Given the description of an element on the screen output the (x, y) to click on. 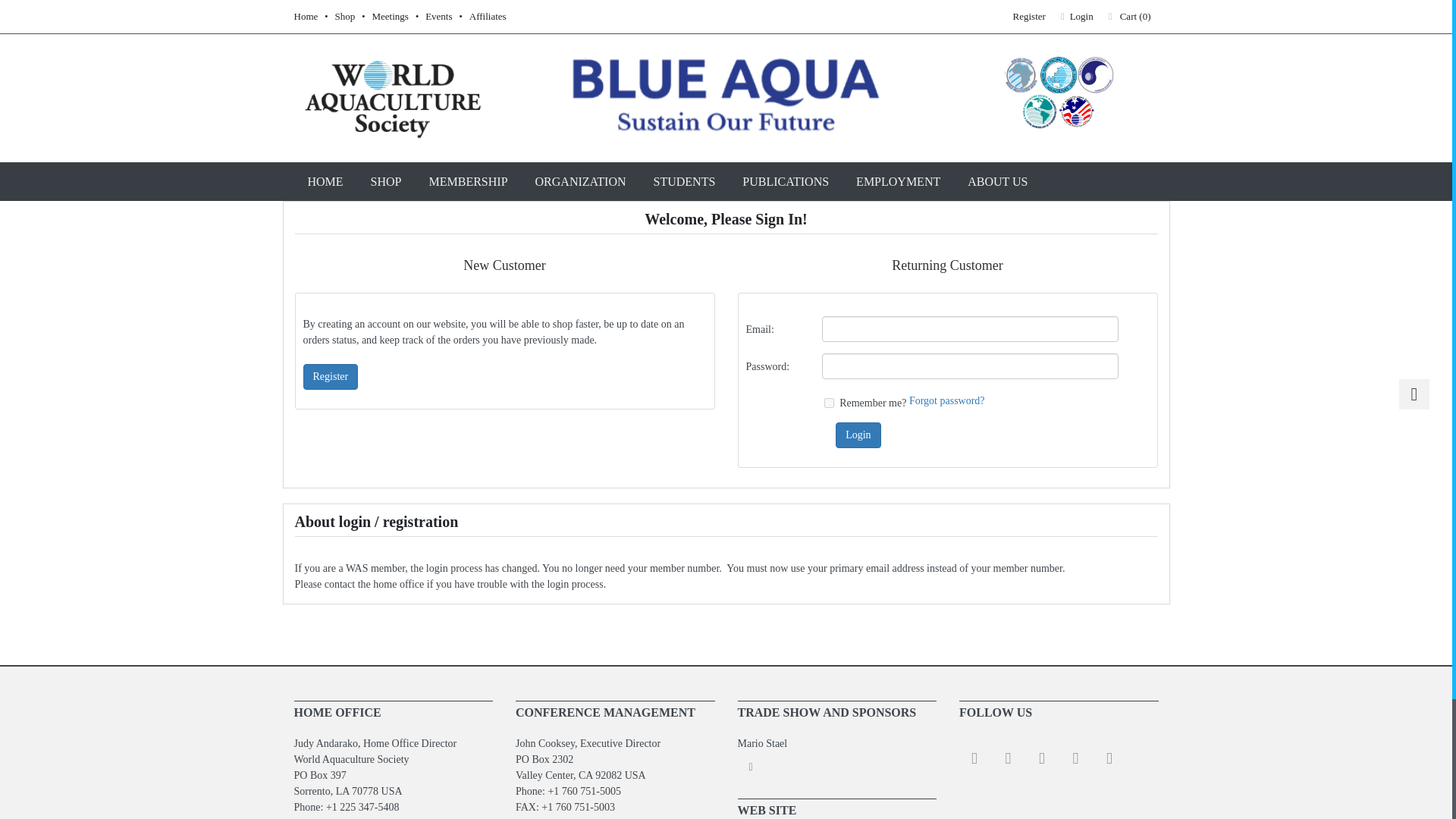
Request (836, 766)
Login (1076, 16)
Login (857, 434)
Register (330, 376)
Send feedback (614, 816)
Register (1029, 16)
Meetings (390, 16)
Shop (344, 16)
Home (306, 16)
Affiliates (487, 16)
Events (438, 16)
